Given the description of an element on the screen output the (x, y) to click on. 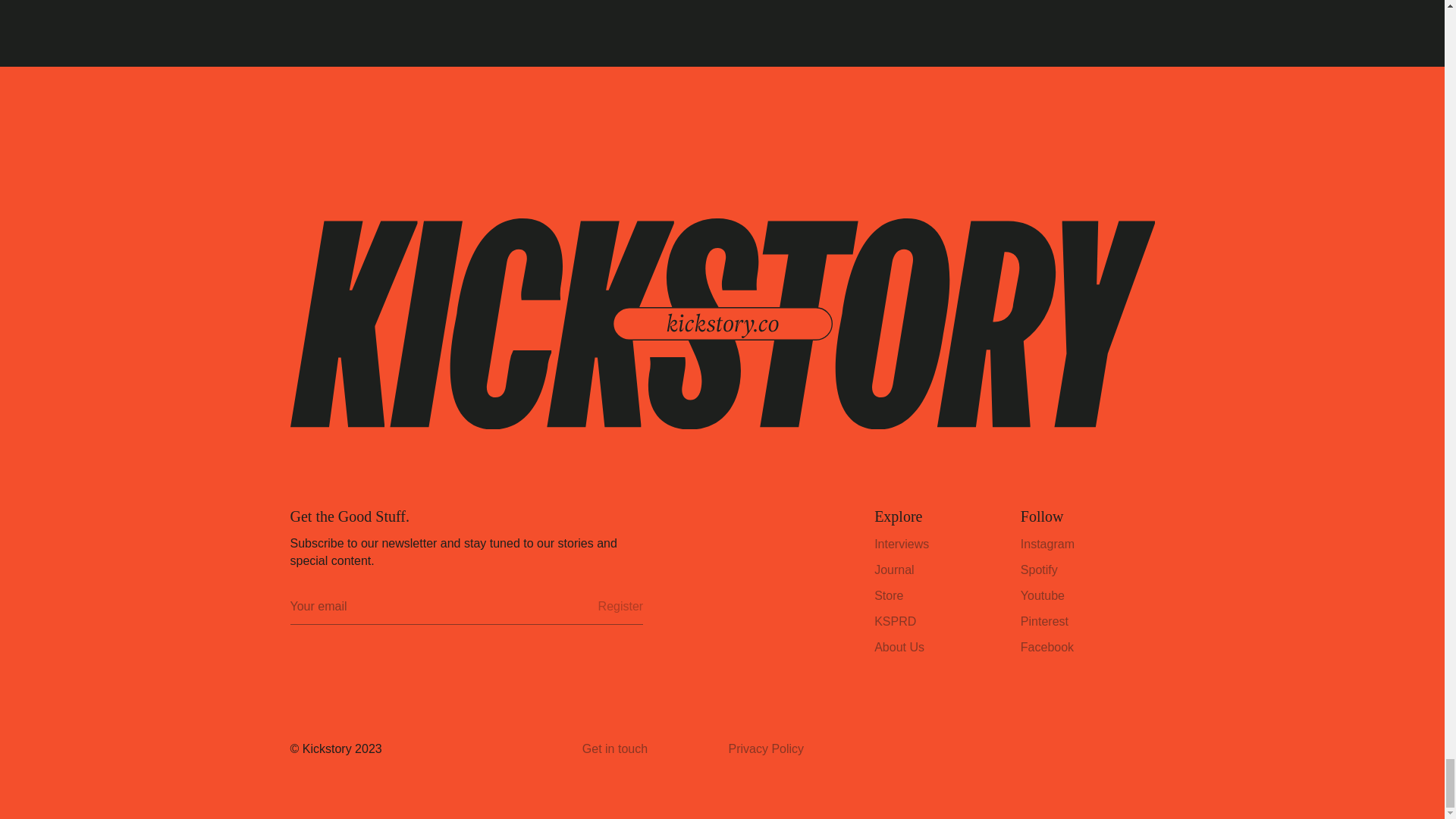
Journal (894, 569)
Register (620, 606)
Youtube (1042, 594)
Instagram (1047, 543)
KSPRD (895, 621)
Pinterest (1044, 621)
Spotify (1039, 569)
Get in touch (649, 749)
Store (888, 594)
Interviews (901, 543)
Facebook (1047, 646)
Register (620, 606)
About Us (899, 646)
